Given the description of an element on the screen output the (x, y) to click on. 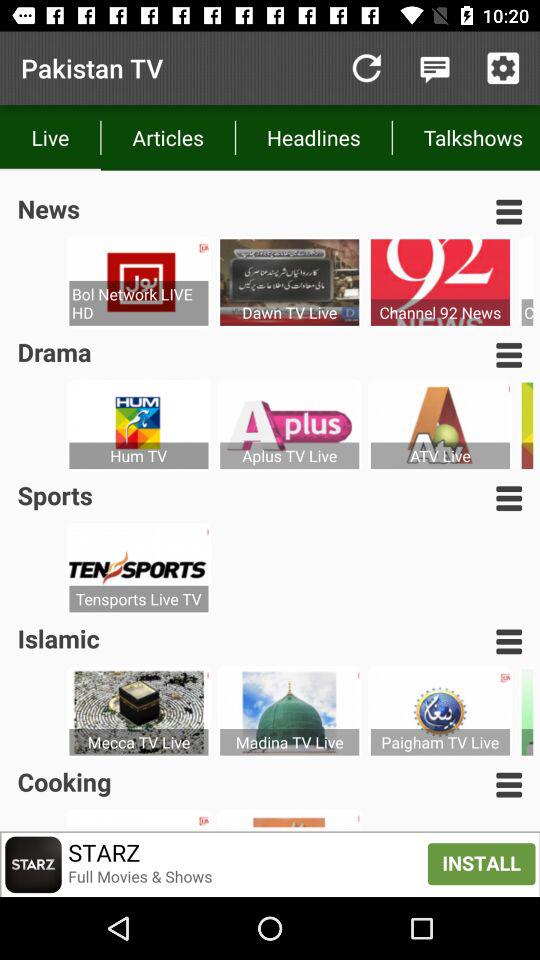
add something (503, 67)
